Given the description of an element on the screen output the (x, y) to click on. 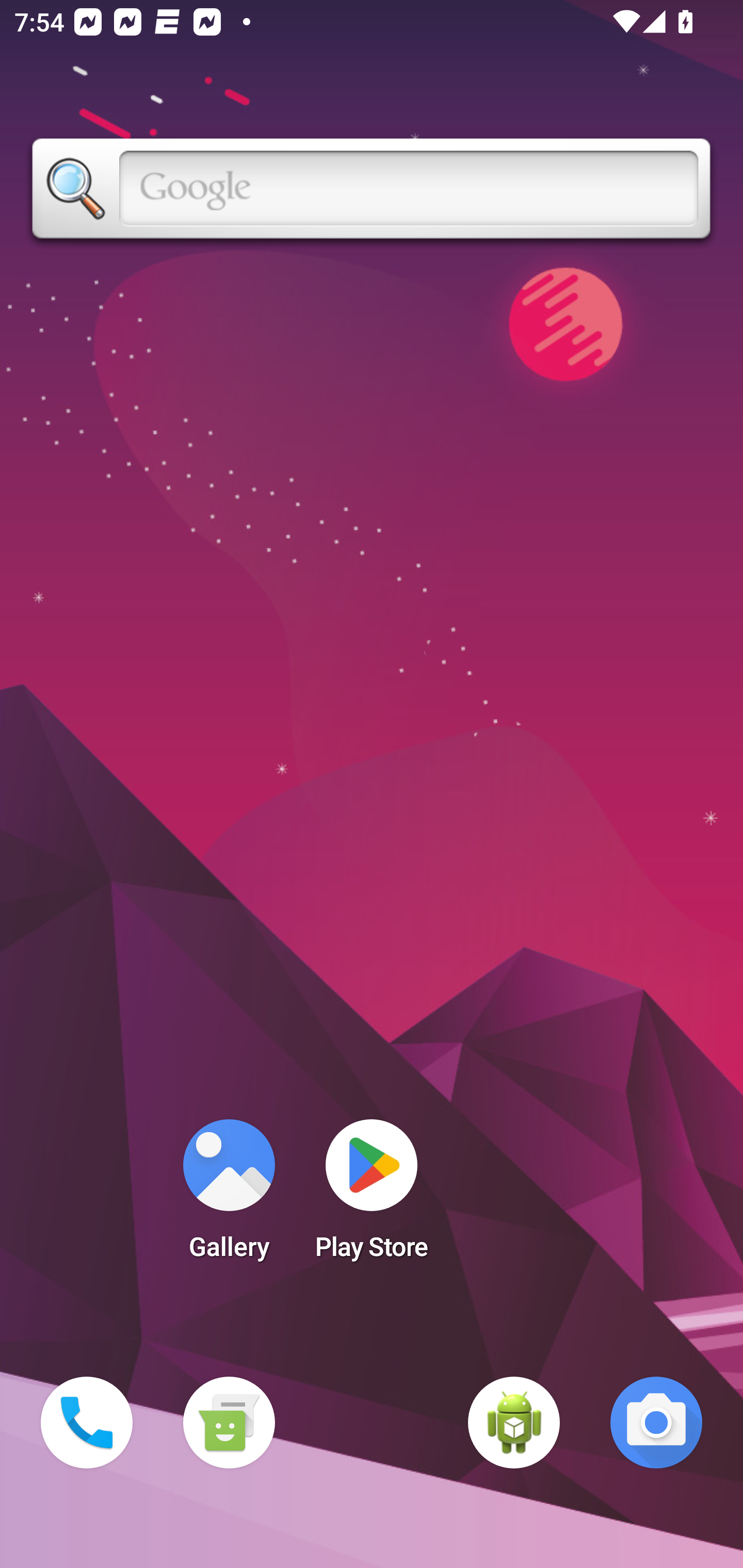
Gallery (228, 1195)
Play Store (371, 1195)
Phone (86, 1422)
Messaging (228, 1422)
WebView Browser Tester (513, 1422)
Camera (656, 1422)
